Given the description of an element on the screen output the (x, y) to click on. 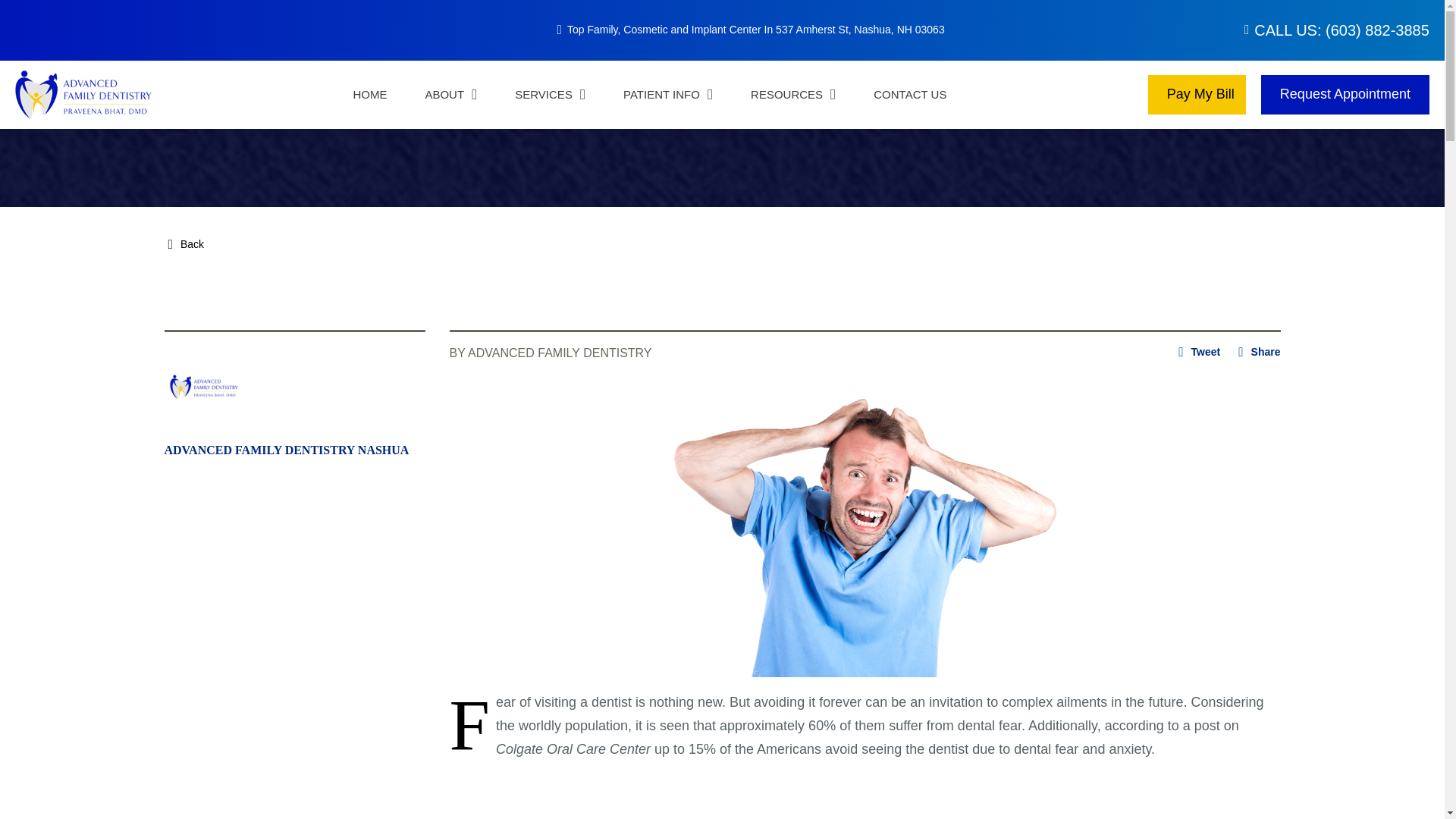
ABOUT (451, 94)
PATIENT INFO (668, 94)
HOME (369, 94)
SERVICES (550, 94)
